Given the description of an element on the screen output the (x, y) to click on. 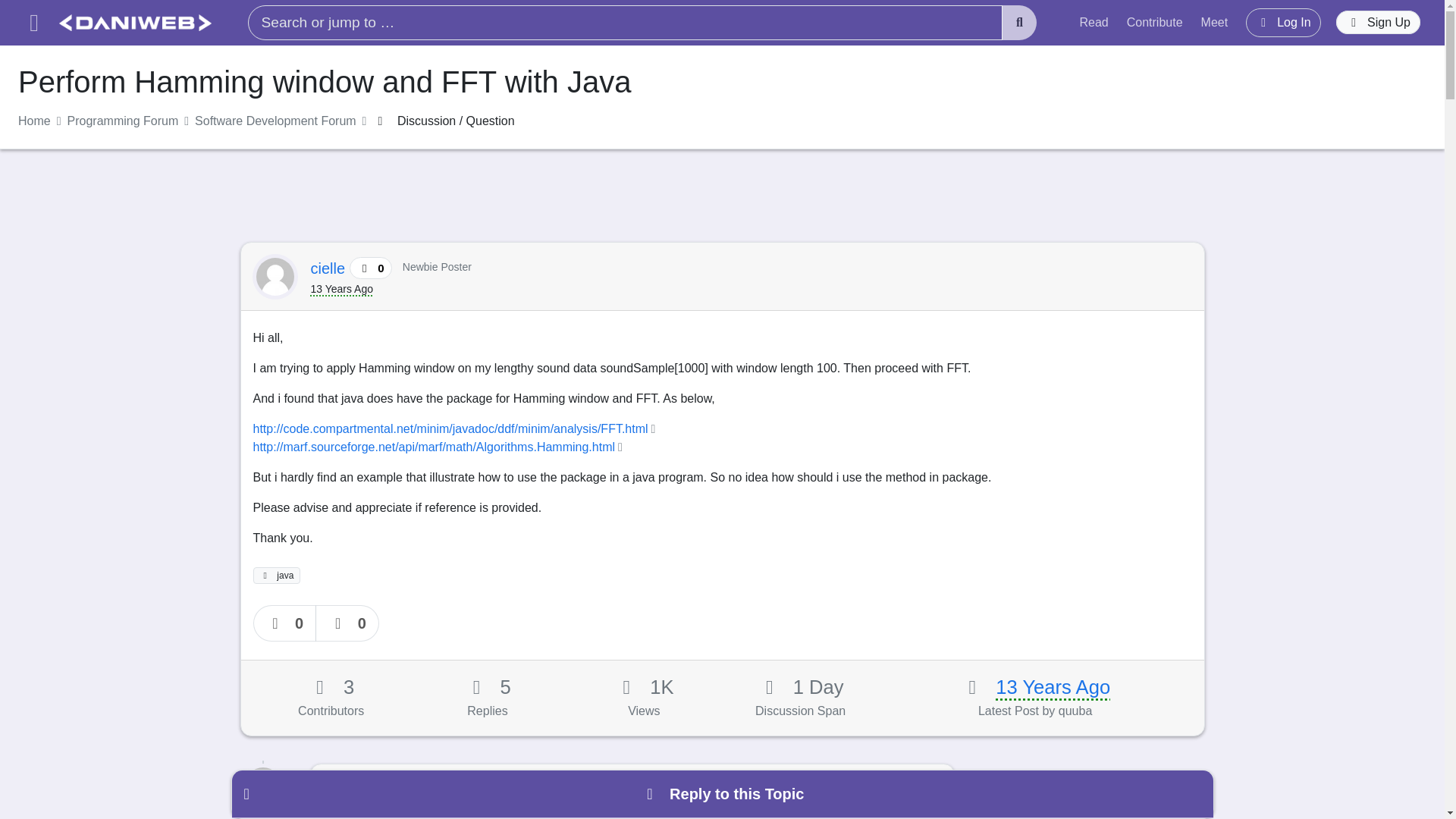
Toggle Menu (33, 22)
java (277, 575)
Contribute (1155, 22)
cielle (330, 268)
Software Development Forum (275, 120)
Menu (33, 22)
Home (33, 120)
Programming Forum (122, 120)
Sign Up (1378, 22)
Meet (1214, 22)
